Given the description of an element on the screen output the (x, y) to click on. 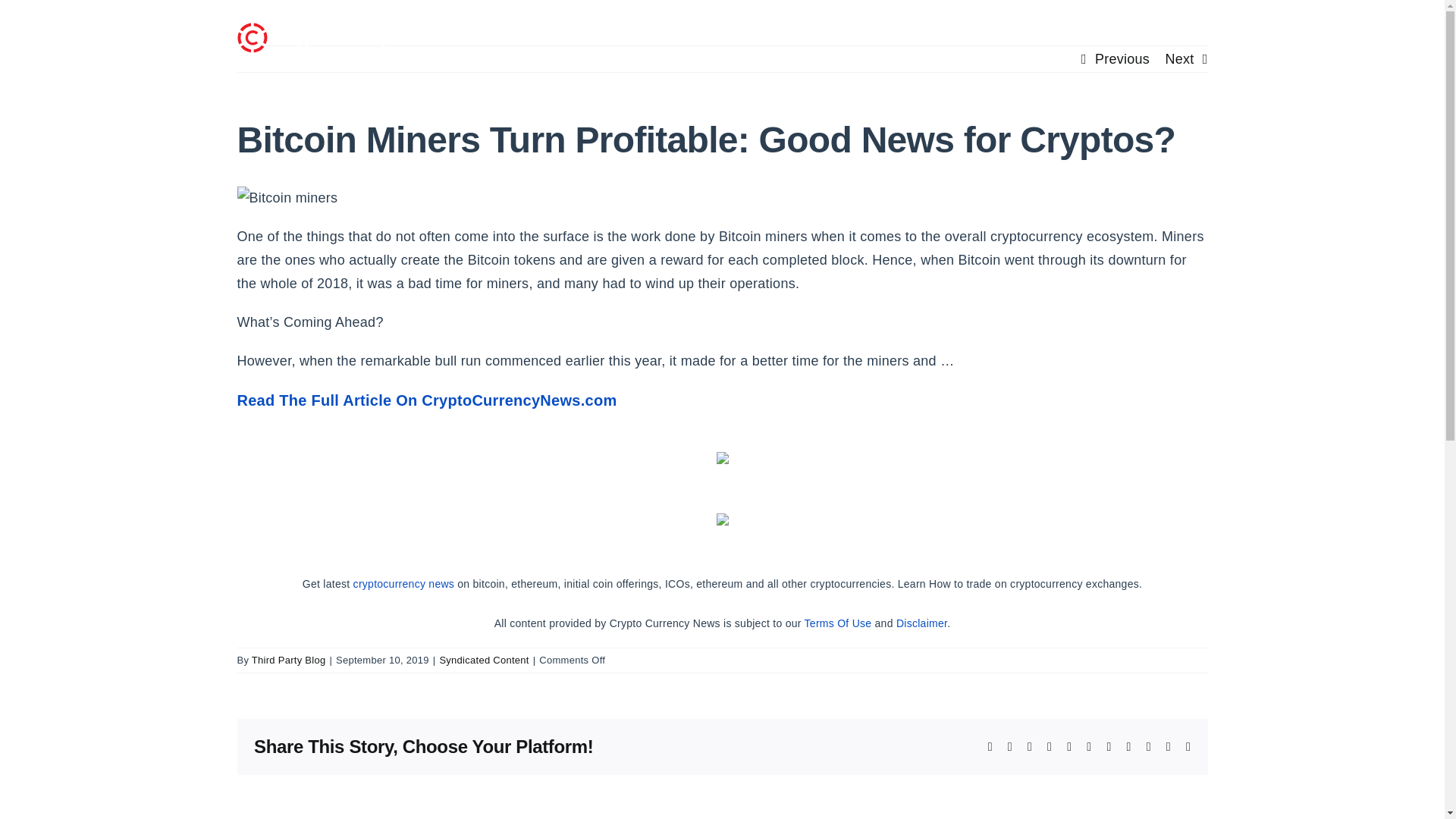
Our Activities (987, 33)
Posts by Third Party Blog (288, 659)
Our Network (883, 33)
